Given the description of an element on the screen output the (x, y) to click on. 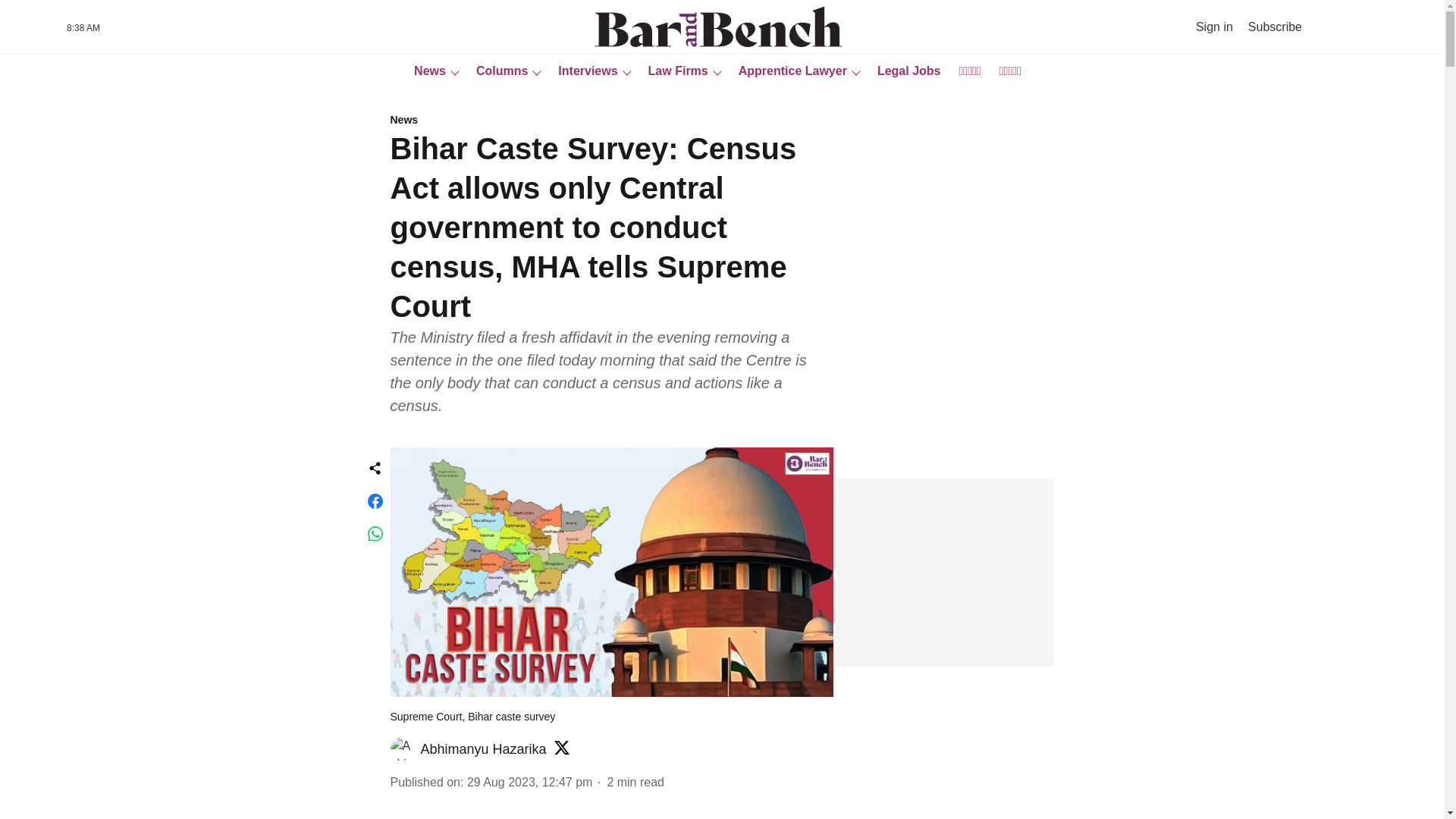
Interviews (582, 71)
Abhimanyu Hazarika (483, 749)
Columns (497, 71)
News (424, 71)
News (611, 120)
2023-08-29 04:47 (529, 780)
Law Firms (673, 71)
Apprentice Lawyer (788, 71)
Legal Jobs (903, 71)
